Given the description of an element on the screen output the (x, y) to click on. 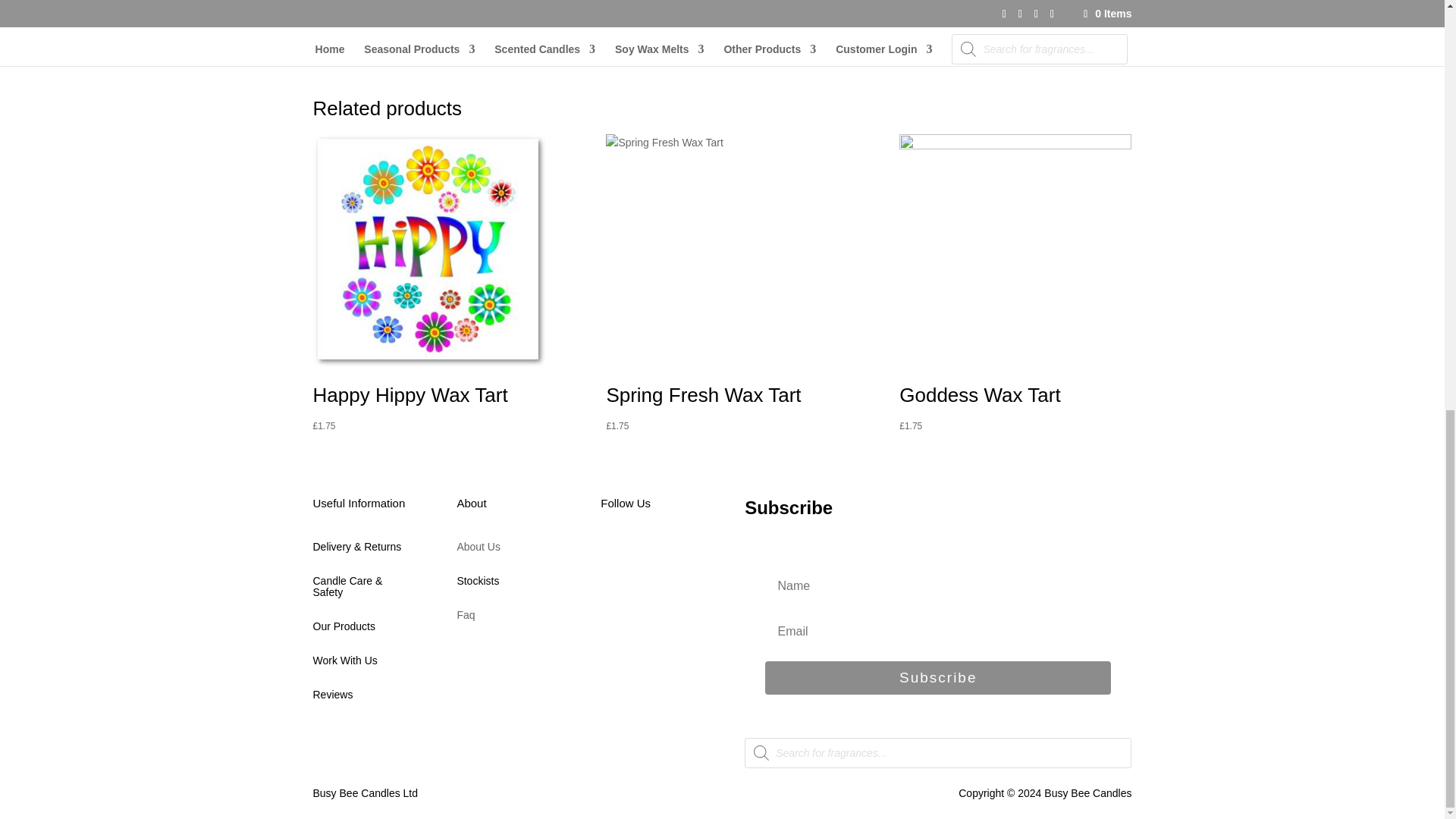
Follow on X (642, 553)
Follow on Instagram (673, 553)
Follow on Facebook (611, 553)
